Given the description of an element on the screen output the (x, y) to click on. 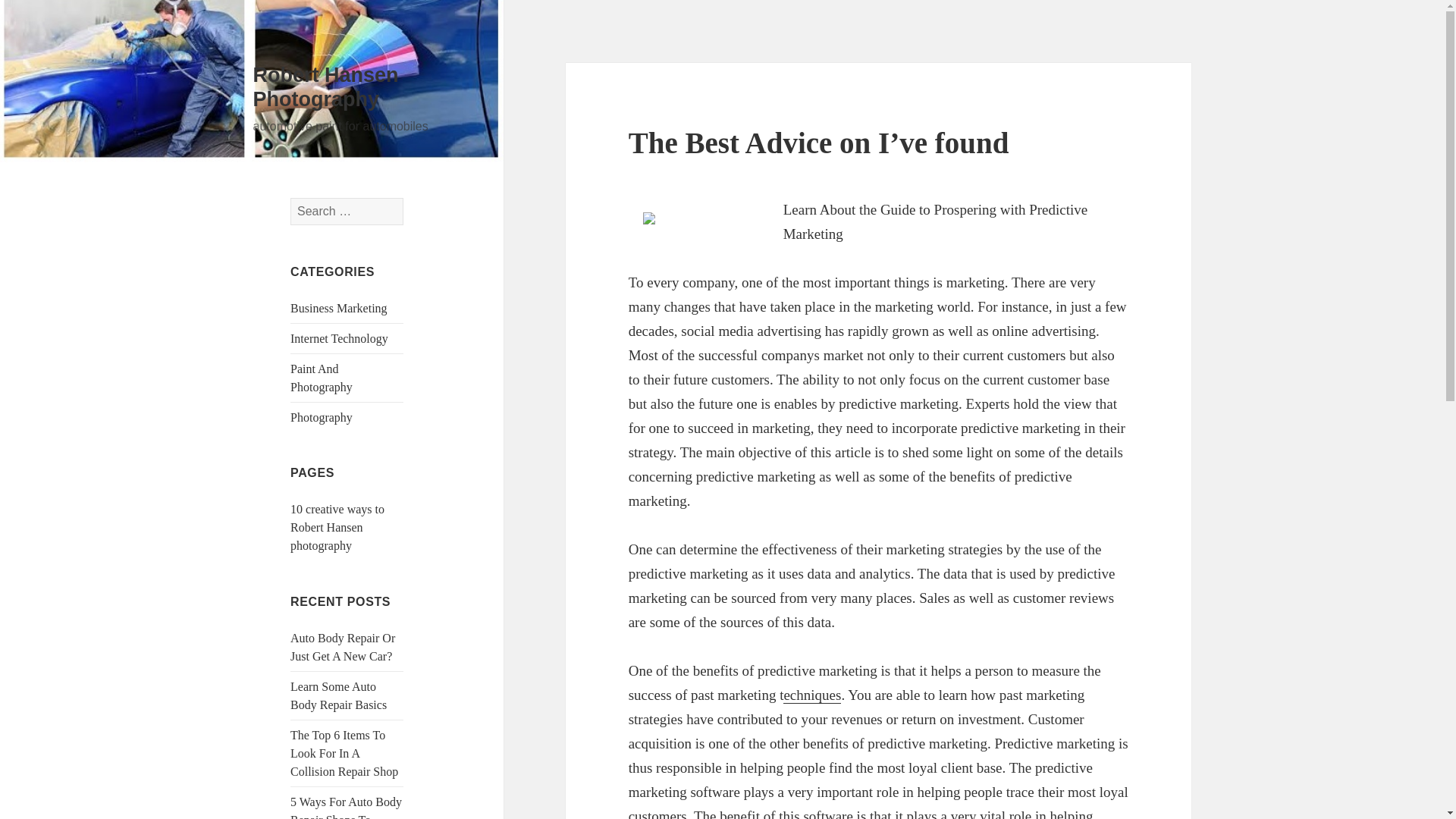
Internet Technology (338, 338)
Learn Some Auto Body Repair Basics (338, 695)
Photography (320, 417)
Paint And Photography (320, 377)
Auto Body Repair Or Just Get A New Car? (341, 646)
Robert Hansen Photography (325, 86)
Business Marketing (338, 308)
echniques (812, 695)
The Top 6 Items To Look For In A Collision Repair Shop (343, 753)
10 creative ways to Robert Hansen photography (336, 527)
